Given the description of an element on the screen output the (x, y) to click on. 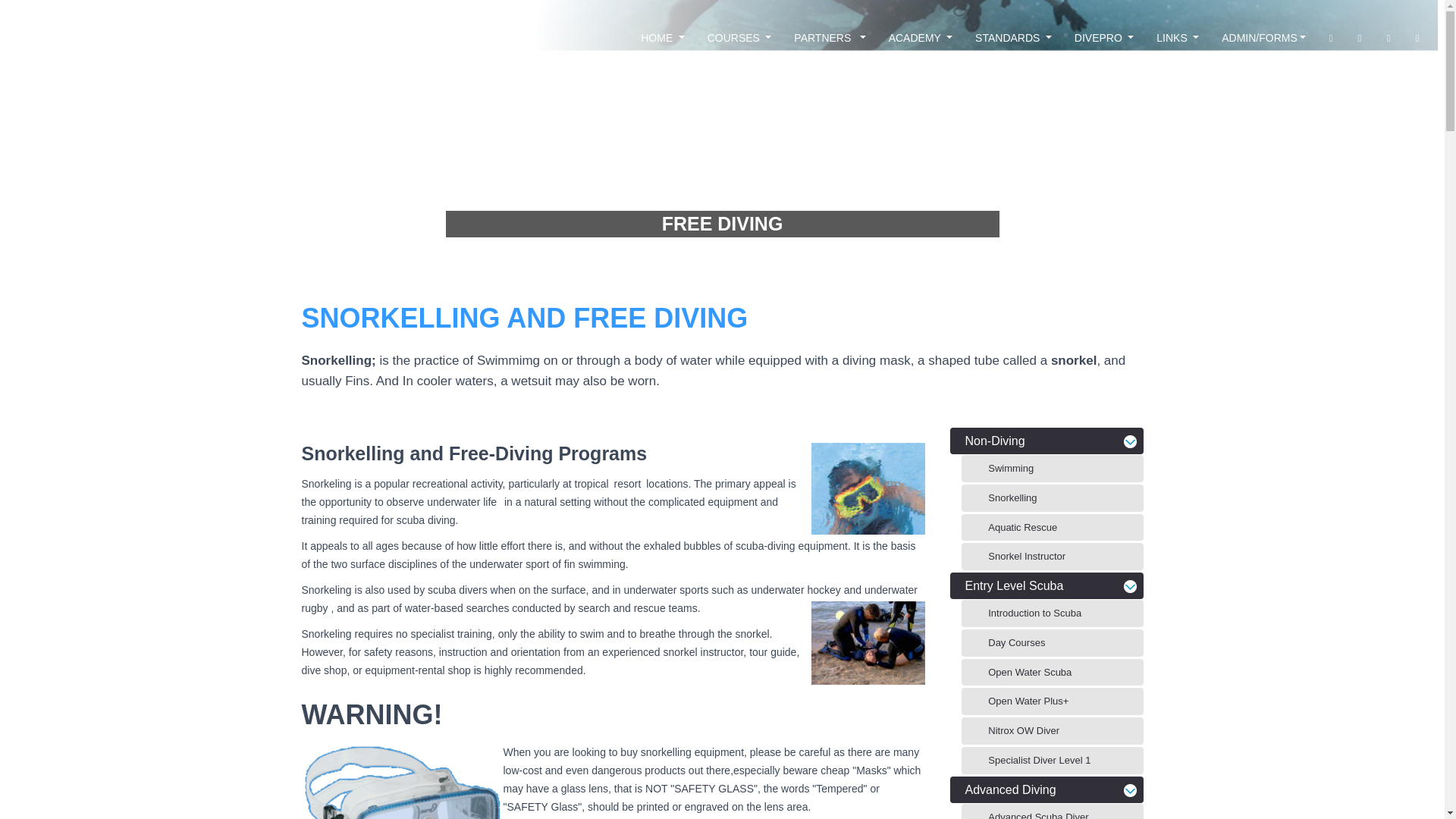
HOME (661, 37)
PARTNERS  (829, 37)
COURSES (739, 37)
diveitda.com (85, 37)
